Given the description of an element on the screen output the (x, y) to click on. 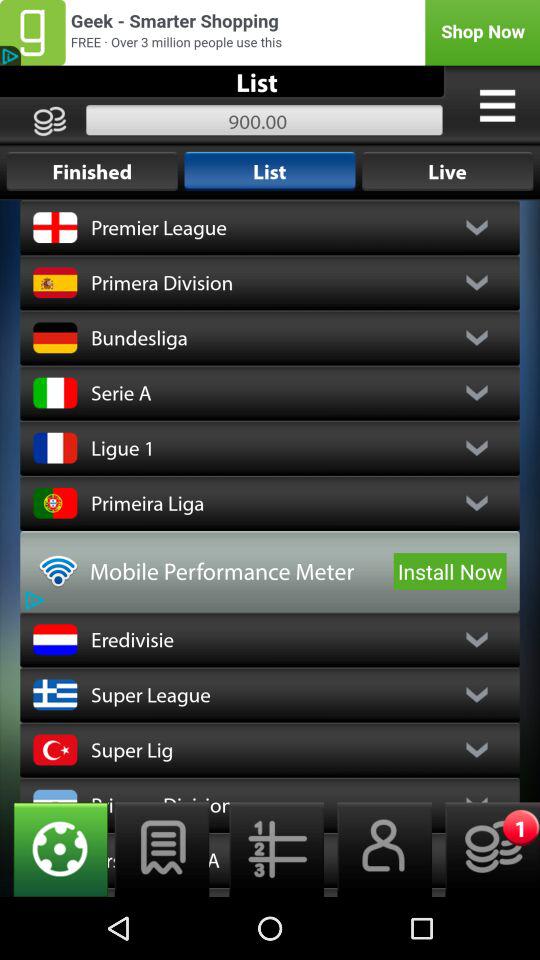
coin button (486, 849)
